Given the description of an element on the screen output the (x, y) to click on. 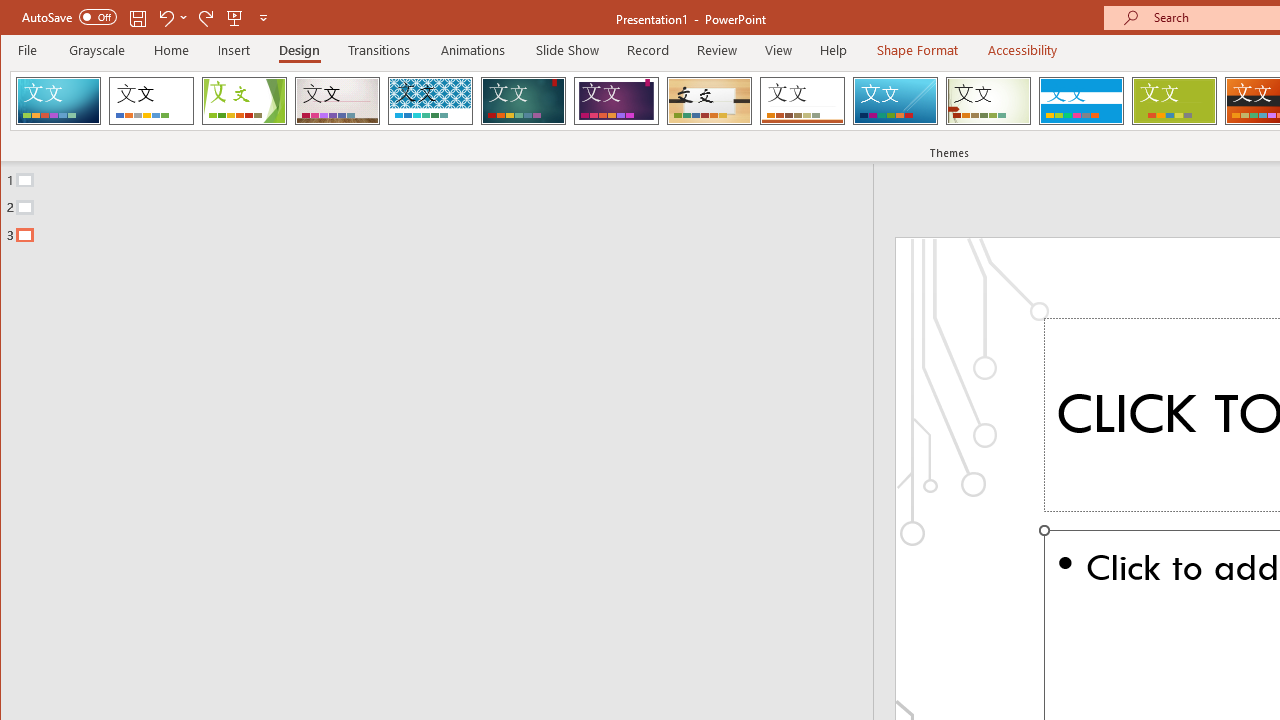
Basis (1174, 100)
Retrospect (802, 100)
Organic (709, 100)
